Given the description of an element on the screen output the (x, y) to click on. 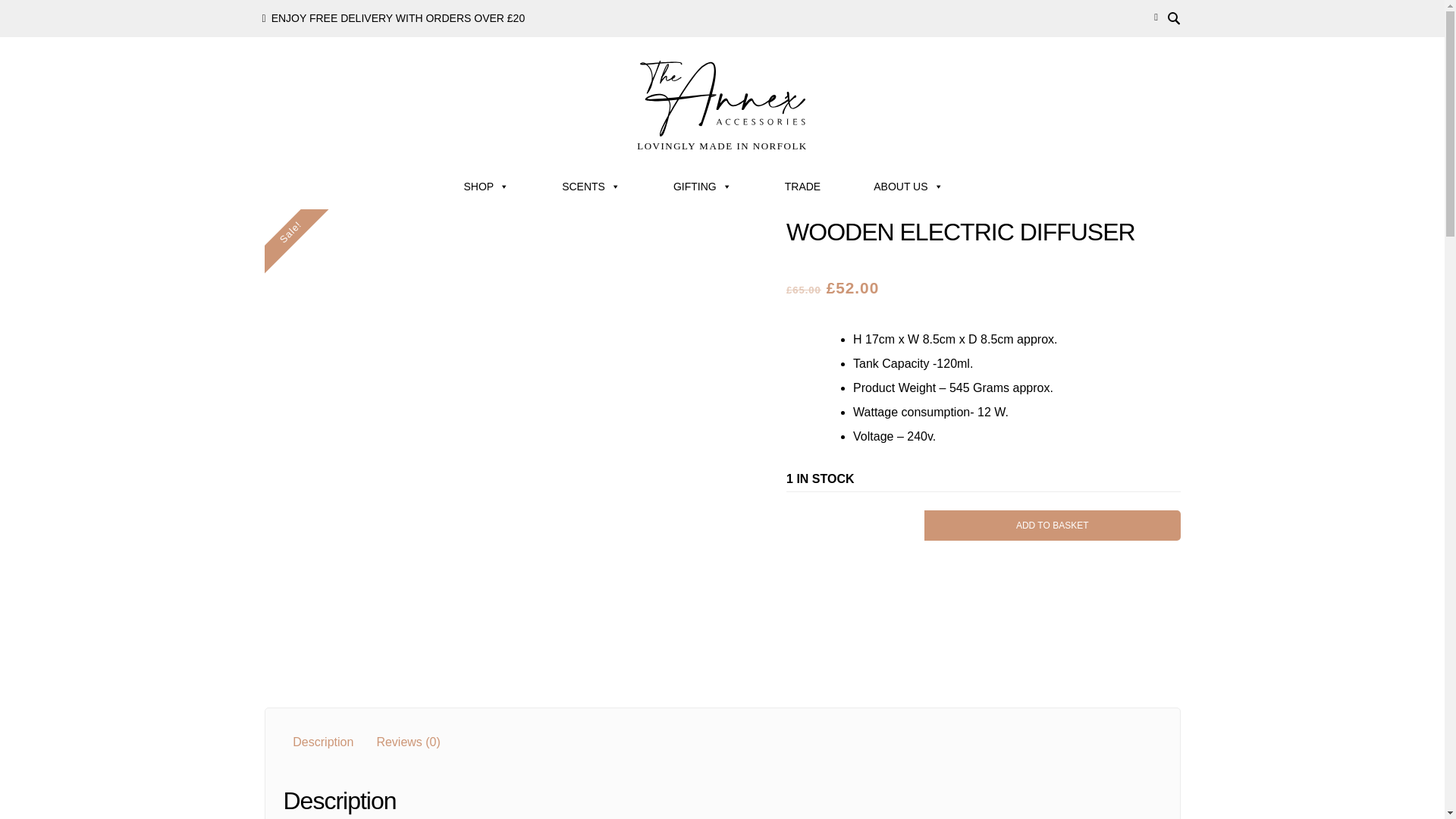
annex-black-logo (722, 98)
Shop (321, 166)
GIFTING (702, 186)
Home (286, 166)
ABOUT US (908, 186)
SCENTS (590, 186)
TRADE (802, 186)
SHOP (485, 186)
